Given the description of an element on the screen output the (x, y) to click on. 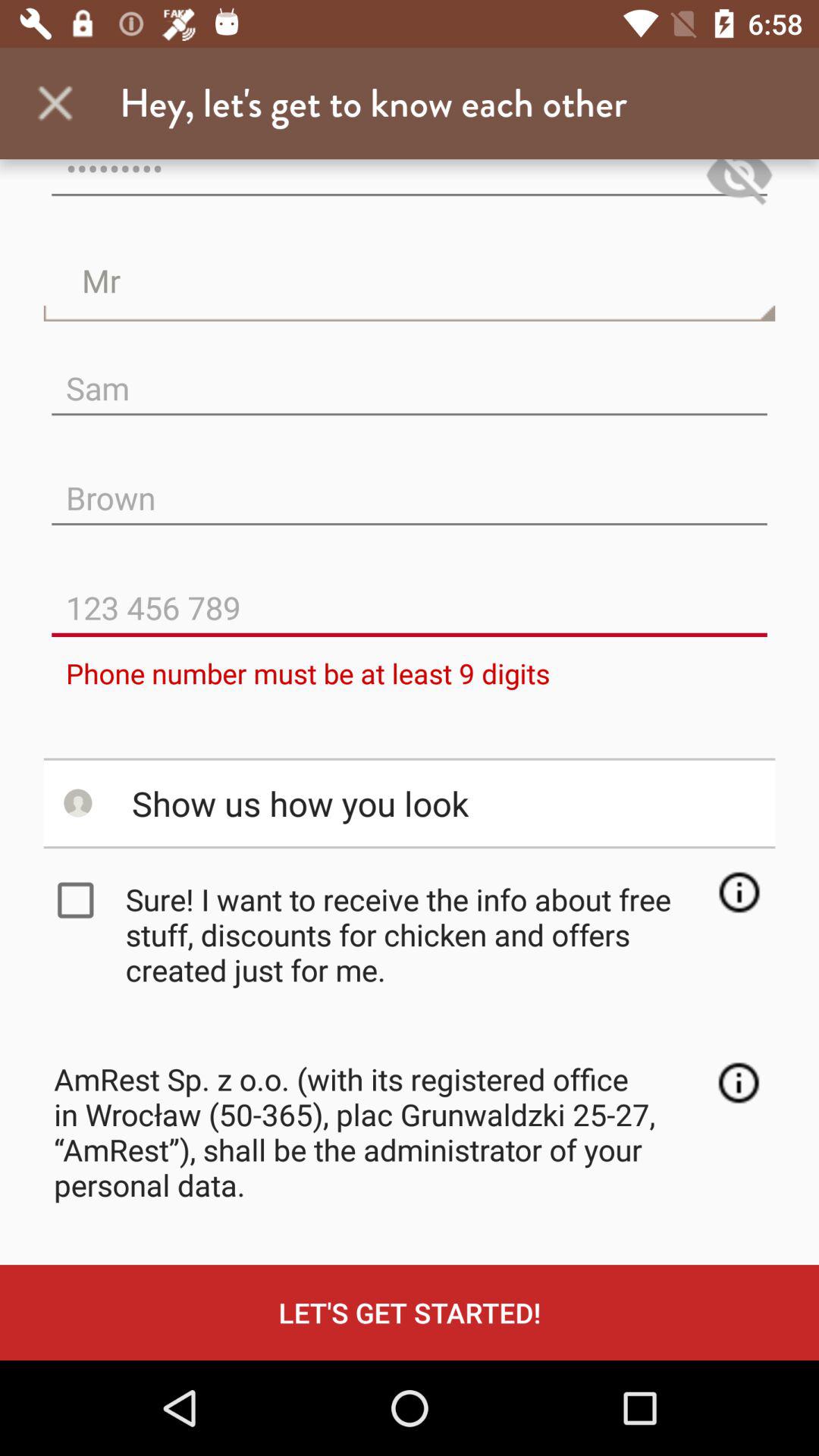
turn off the item next to the sure i want icon (79, 900)
